Given the description of an element on the screen output the (x, y) to click on. 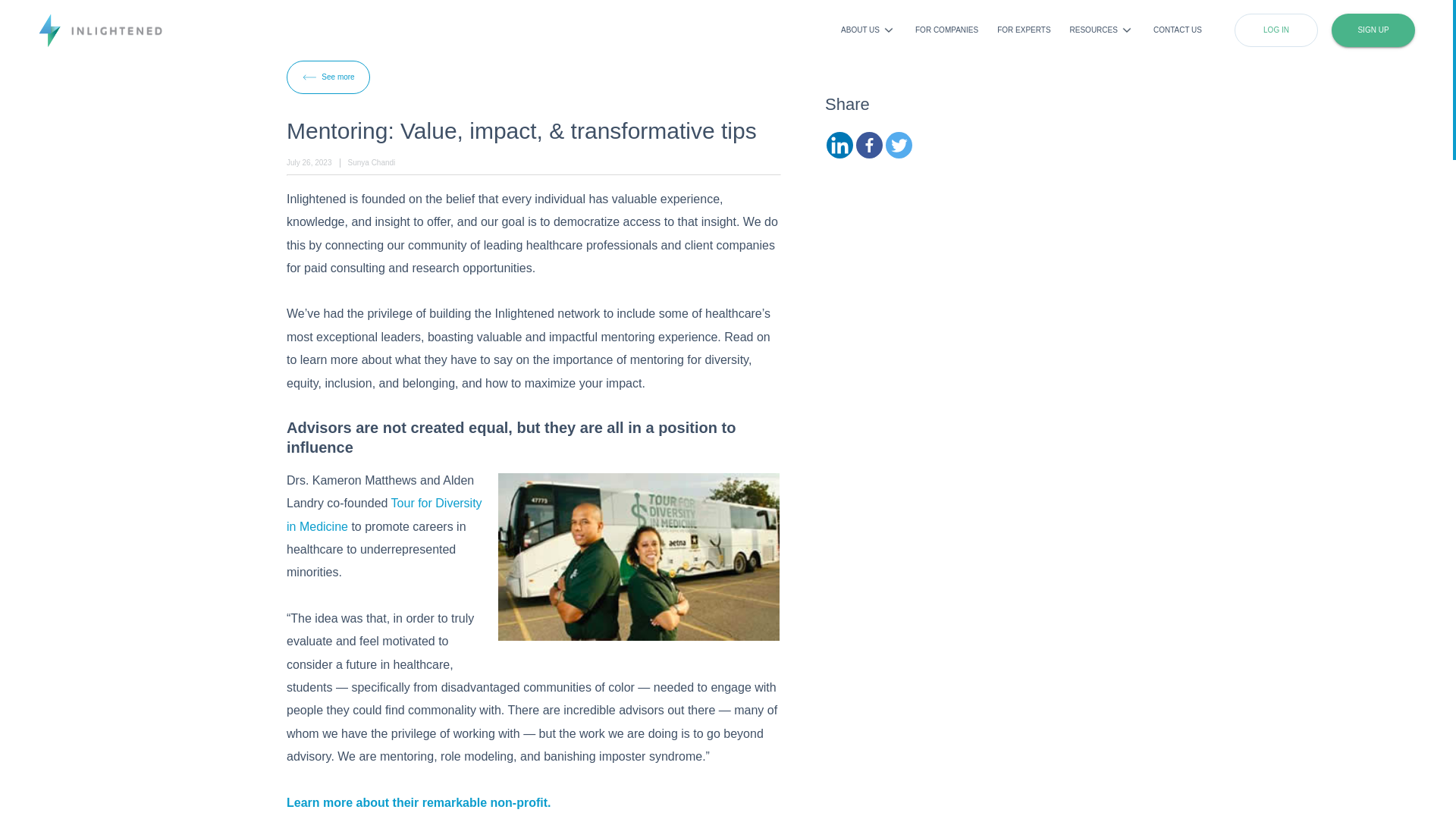
FOR EXPERTS (1023, 30)
Linkedin (840, 144)
LOG IN (1275, 29)
RESOURCES (1102, 30)
ABOUT US (868, 30)
Tour for Diversity in Medicine (383, 514)
SIGN UP (1373, 29)
CONTACT US (1177, 30)
Twitter (898, 144)
Facebook (869, 144)
FOR COMPANIES (946, 30)
See more (327, 77)
